Given the description of an element on the screen output the (x, y) to click on. 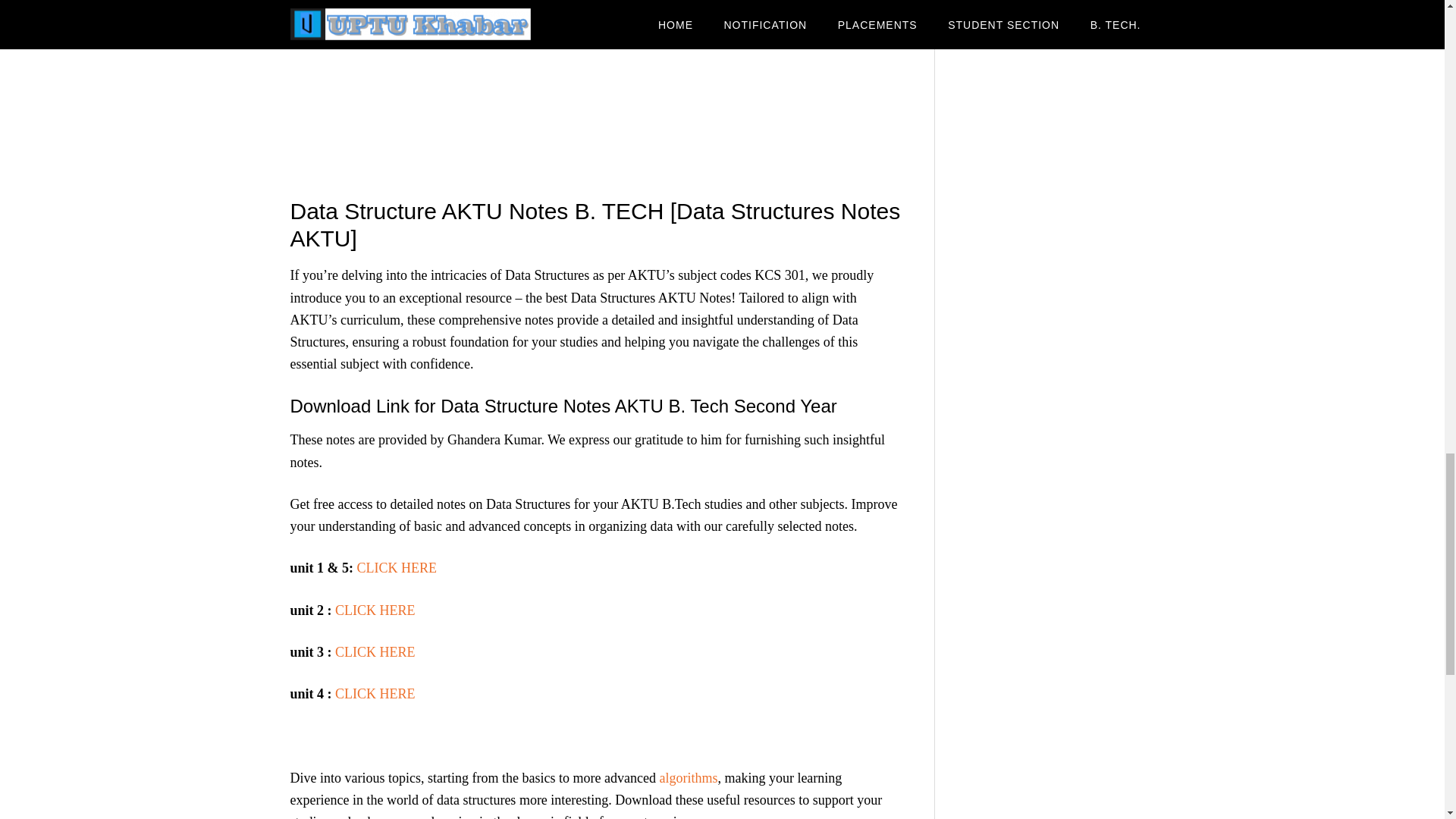
CLICK HERE (374, 610)
CLICK HERE (397, 567)
algorithms (688, 777)
CLICK HERE (374, 652)
CLICK HERE (374, 693)
